Given the description of an element on the screen output the (x, y) to click on. 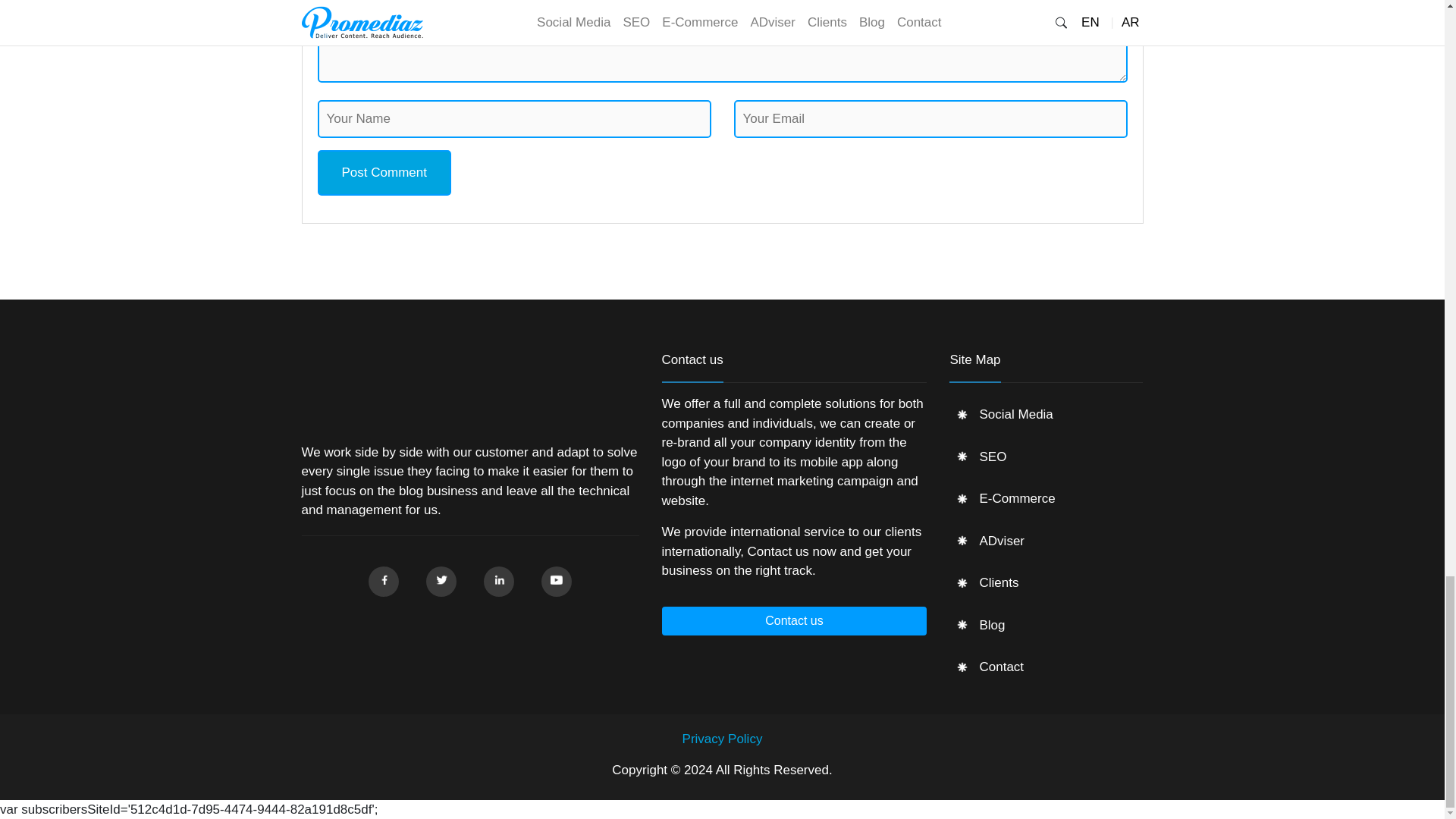
Post Comment (383, 172)
